Given the description of an element on the screen output the (x, y) to click on. 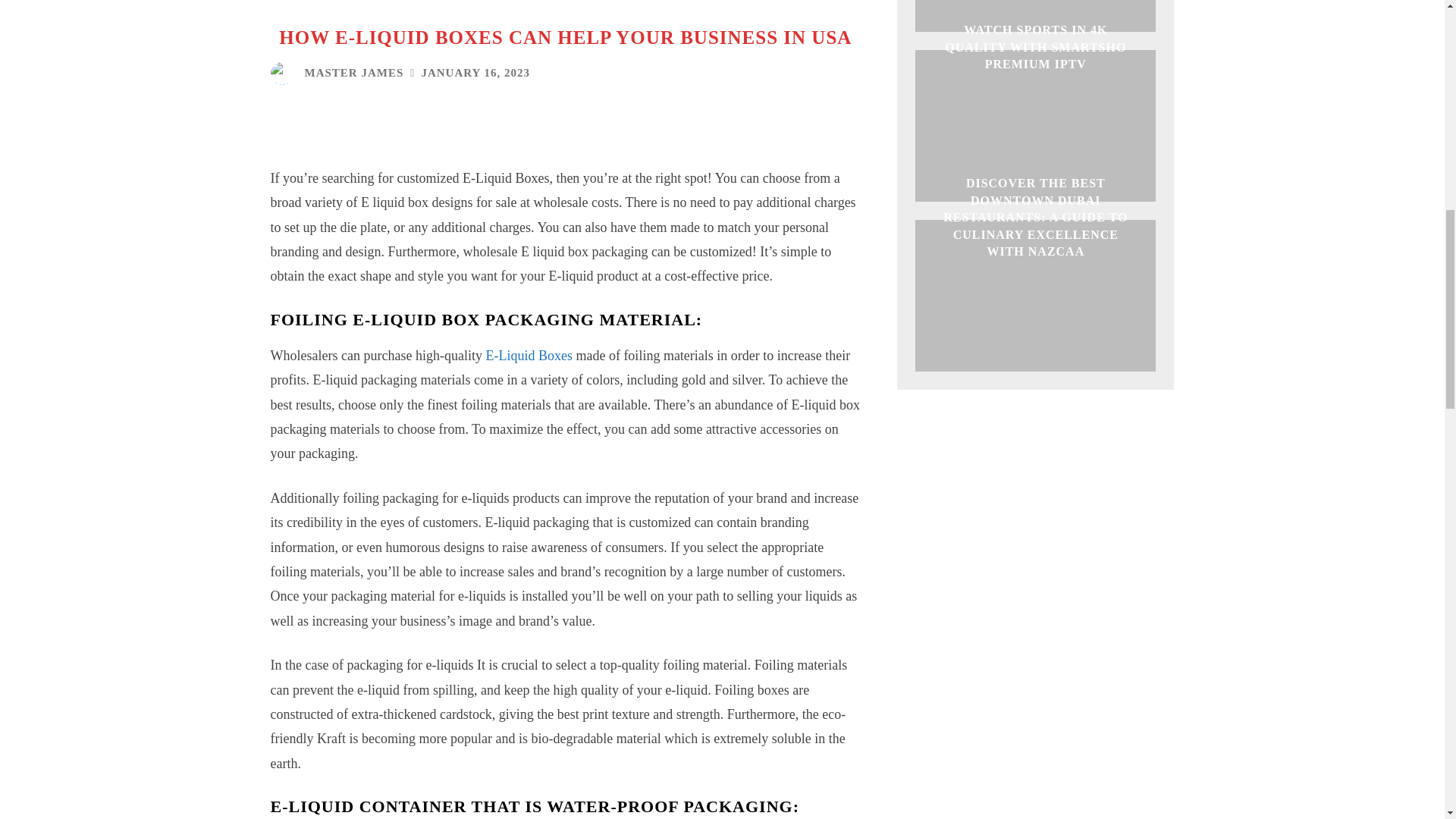
Master James (284, 73)
